Given the description of an element on the screen output the (x, y) to click on. 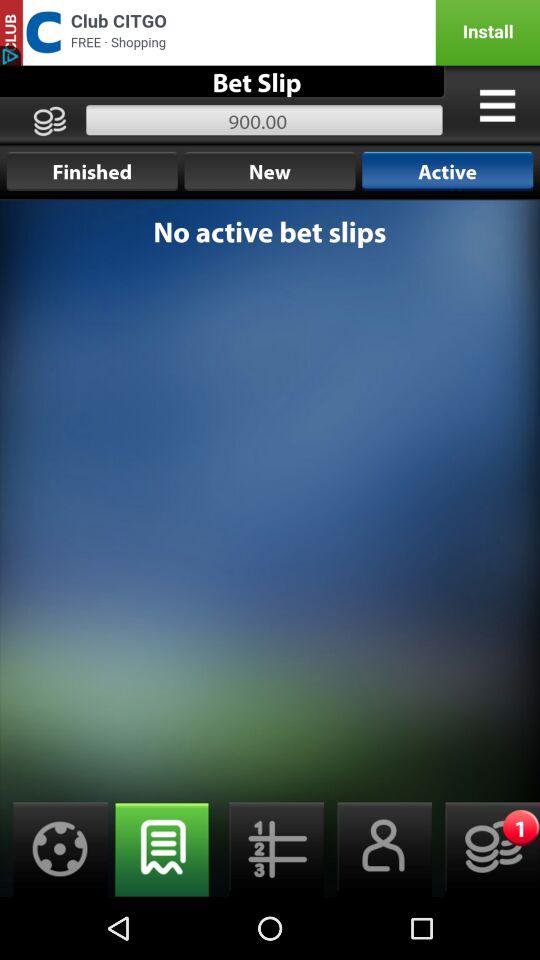
open contacts (378, 849)
